Given the description of an element on the screen output the (x, y) to click on. 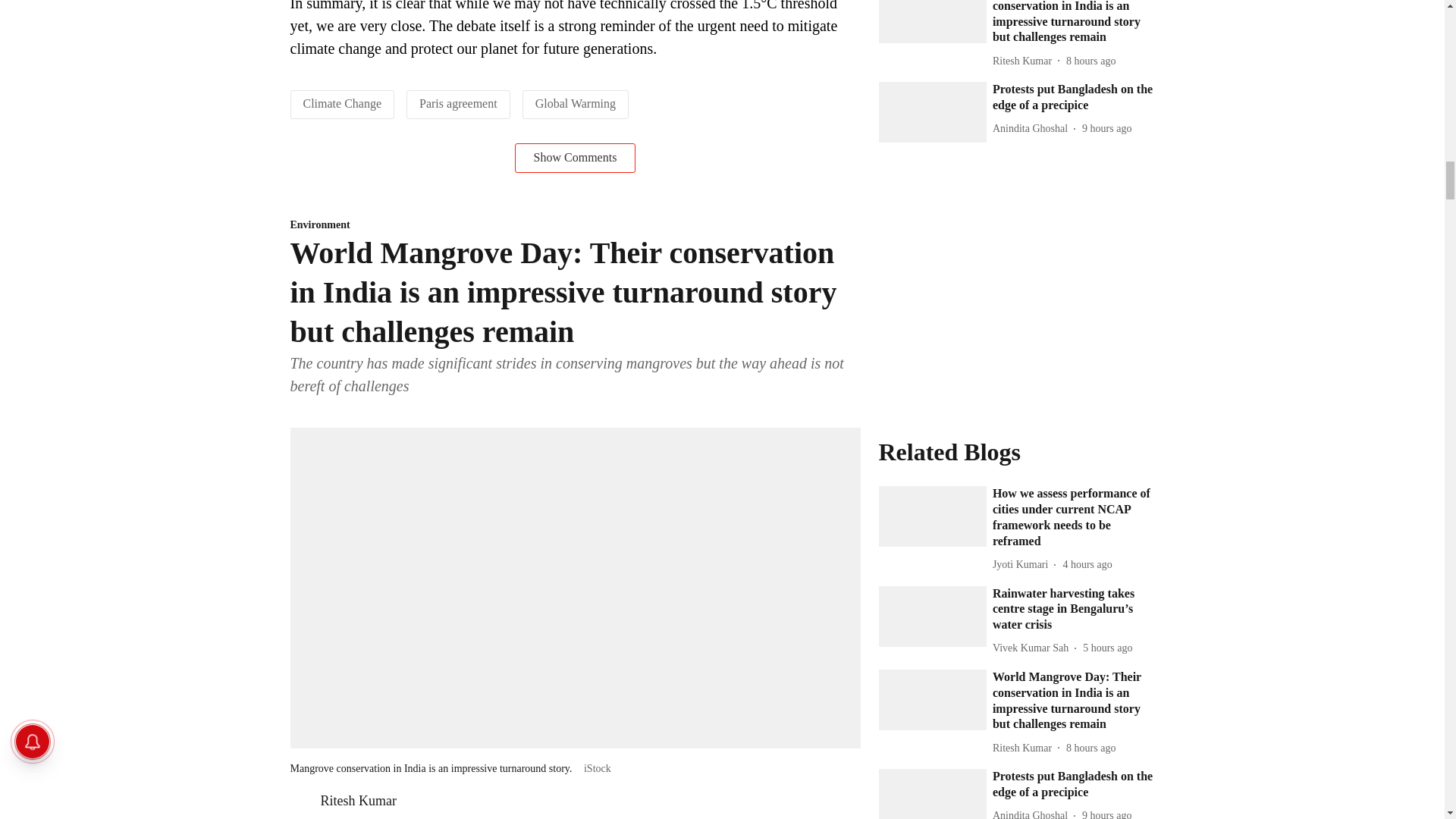
2024-07-26 06:12 (1106, 813)
2024-07-26 07:35 (1090, 747)
2024-07-26 11:01 (1087, 564)
2024-07-26 10:36 (1107, 647)
